Given the description of an element on the screen output the (x, y) to click on. 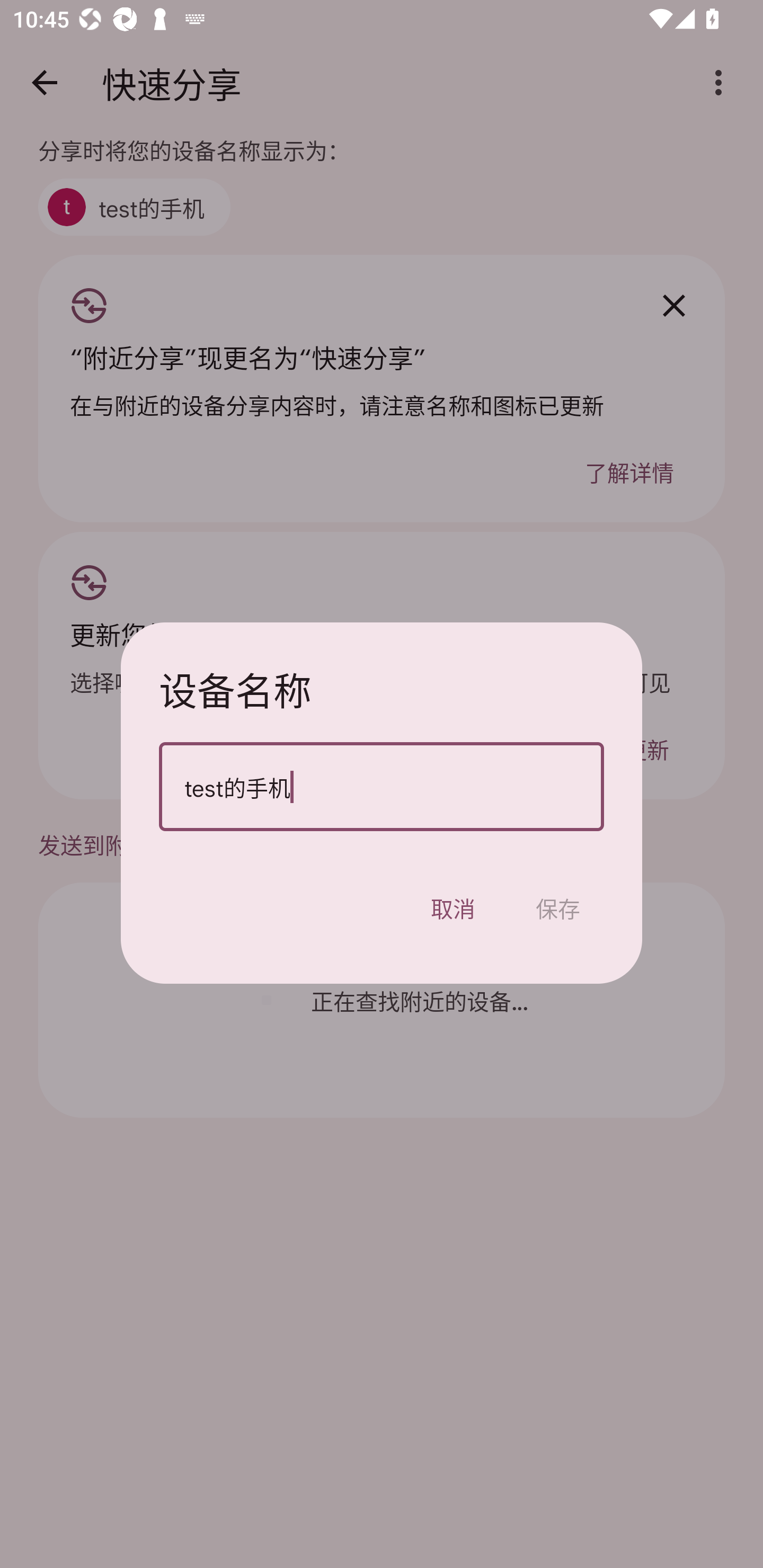
test的手机 设备名称 (381, 786)
取消 (452, 906)
保存 (557, 906)
